Given the description of an element on the screen output the (x, y) to click on. 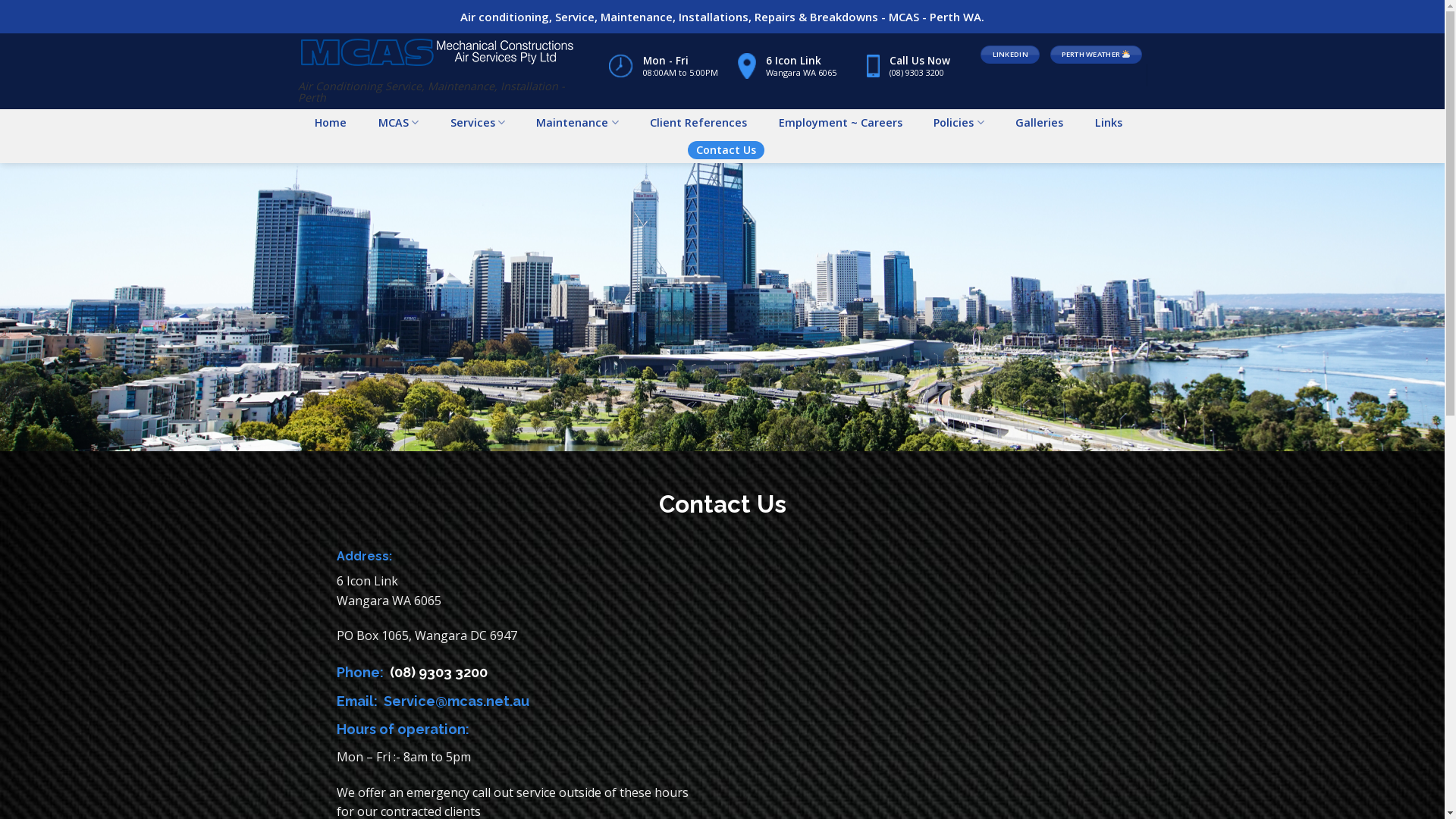
Service@mcas.net.au Element type: text (456, 701)
Contact Us Element type: text (725, 150)
Policies Element type: text (958, 122)
(08) 9303 3200 Element type: text (438, 672)
Services Element type: text (477, 122)
Links Element type: text (1108, 122)
PERTH WEATHER Element type: text (1095, 54)
Client References Element type: text (698, 122)
Maintenance Element type: text (577, 122)
LINKEDIN Element type: text (1009, 54)
Employment ~ Careers Element type: text (840, 122)
MCAS Element type: text (398, 122)
Home Element type: text (330, 122)
Galleries Element type: text (1039, 122)
